Given the description of an element on the screen output the (x, y) to click on. 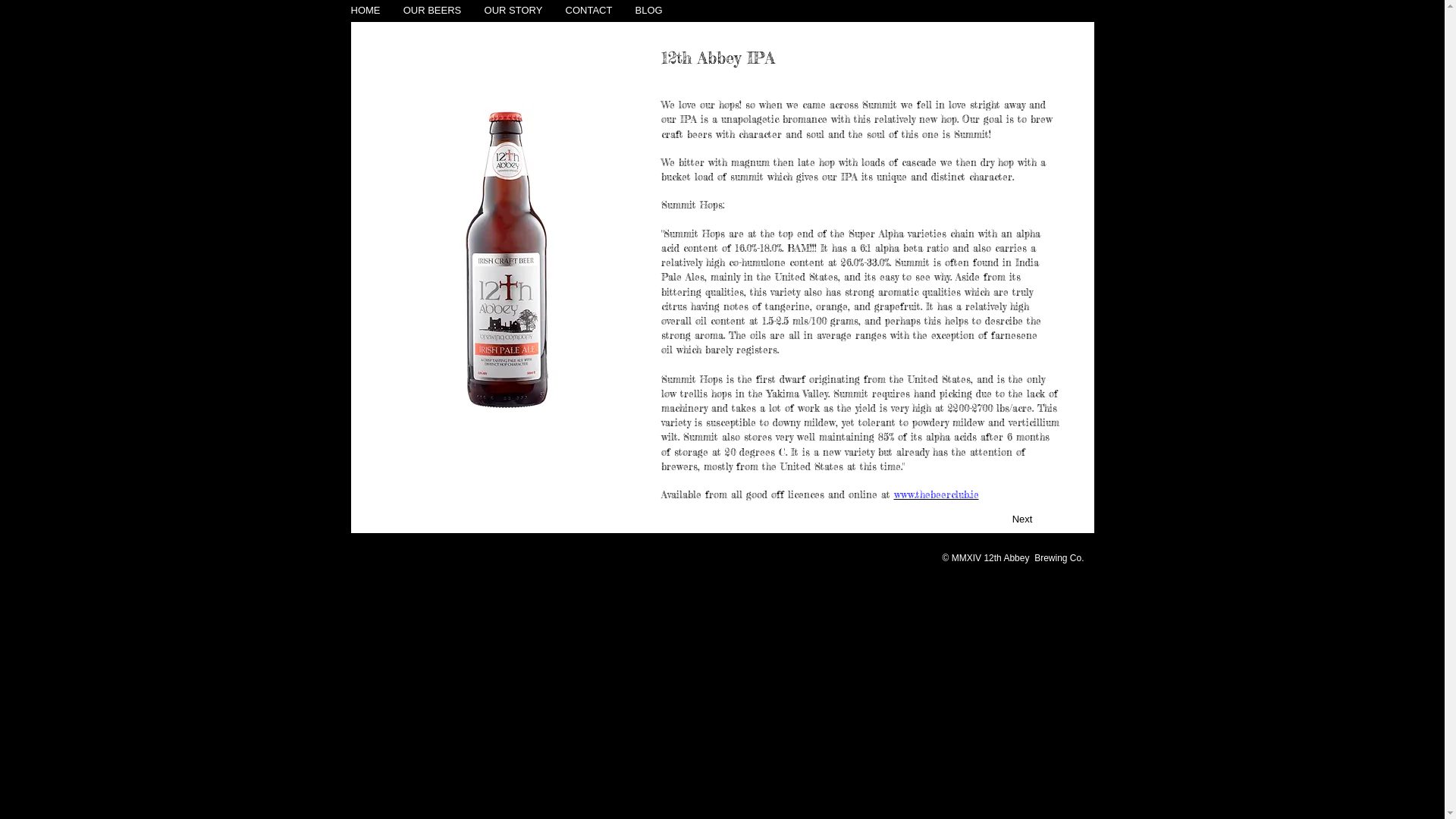
Irish Craft Beer Element type: hover (508, 260)
Next Element type: text (1022, 519)
www.thebeerclub.ie Element type: text (935, 494)
